Given the description of an element on the screen output the (x, y) to click on. 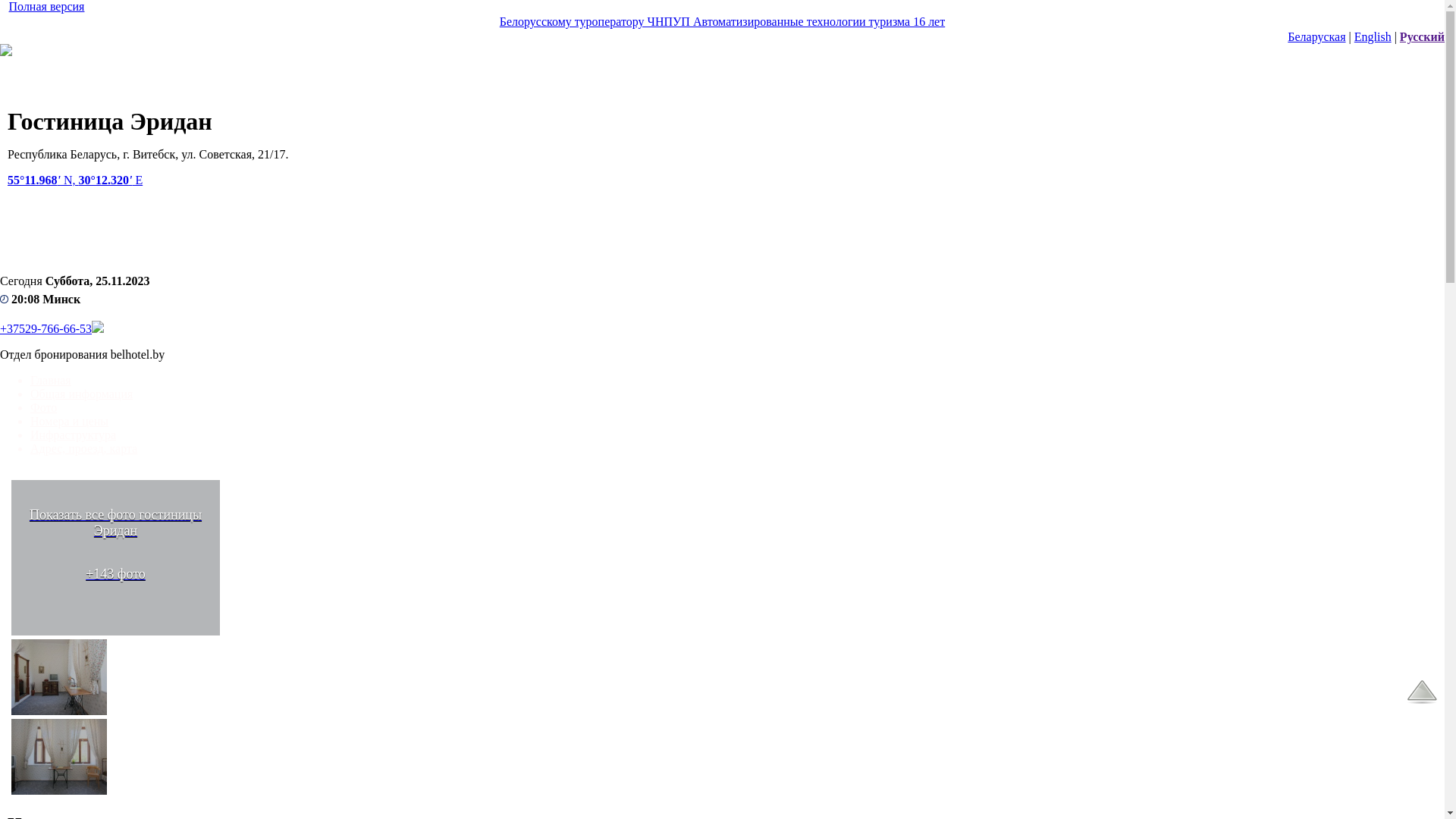
English Element type: text (1372, 36)
+37529-766-66-53 Element type: text (45, 328)
